Given the description of an element on the screen output the (x, y) to click on. 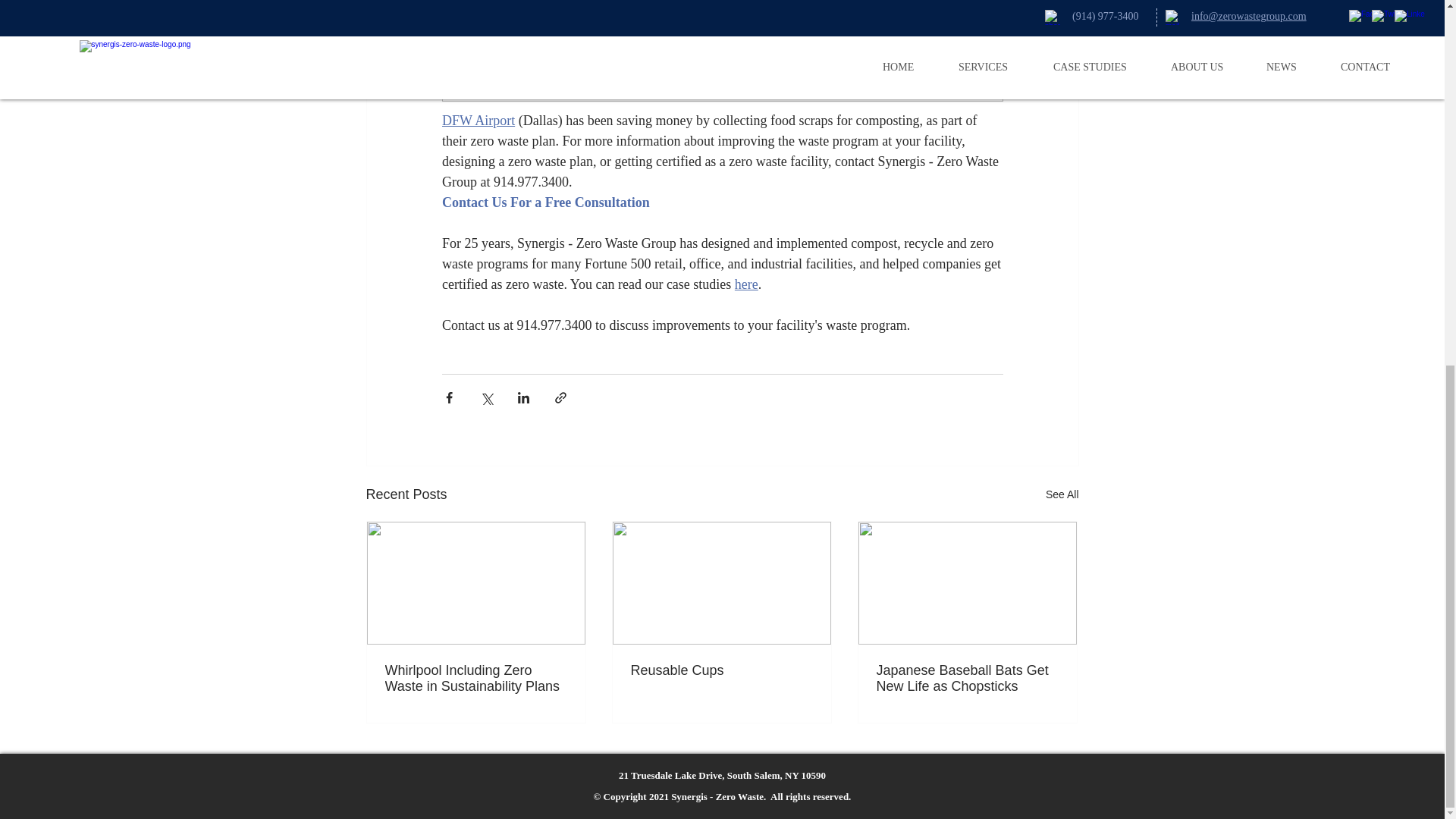
here (745, 283)
See All (1061, 495)
Reusable Cups (721, 670)
Japanese Baseball Bats Get New Life as Chopsticks (967, 678)
Whirlpool Including Zero Waste in Sustainability Plans (476, 678)
DFW Airport (477, 120)
Contact Us For a Free Consultation (545, 201)
